Given the description of an element on the screen output the (x, y) to click on. 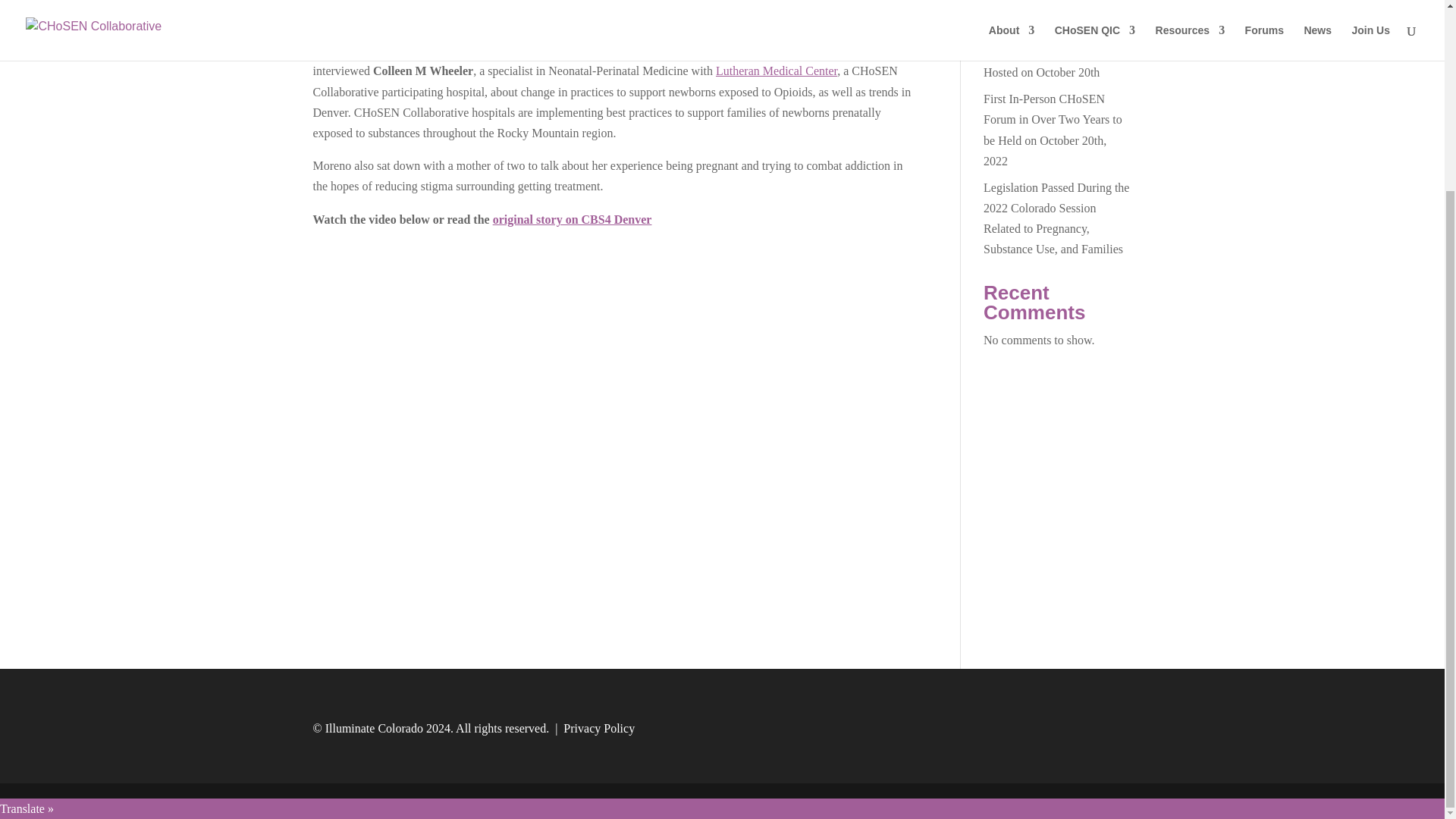
Lutheran Medical Center (776, 70)
original story on CBS4 Denver (572, 218)
April 2023 CHoSEN Forum Hosted on April 18th (1052, 15)
Fall 2022 CHoSEN Forum Hosted on October 20th (1048, 61)
Privacy Policy (598, 727)
